Given the description of an element on the screen output the (x, y) to click on. 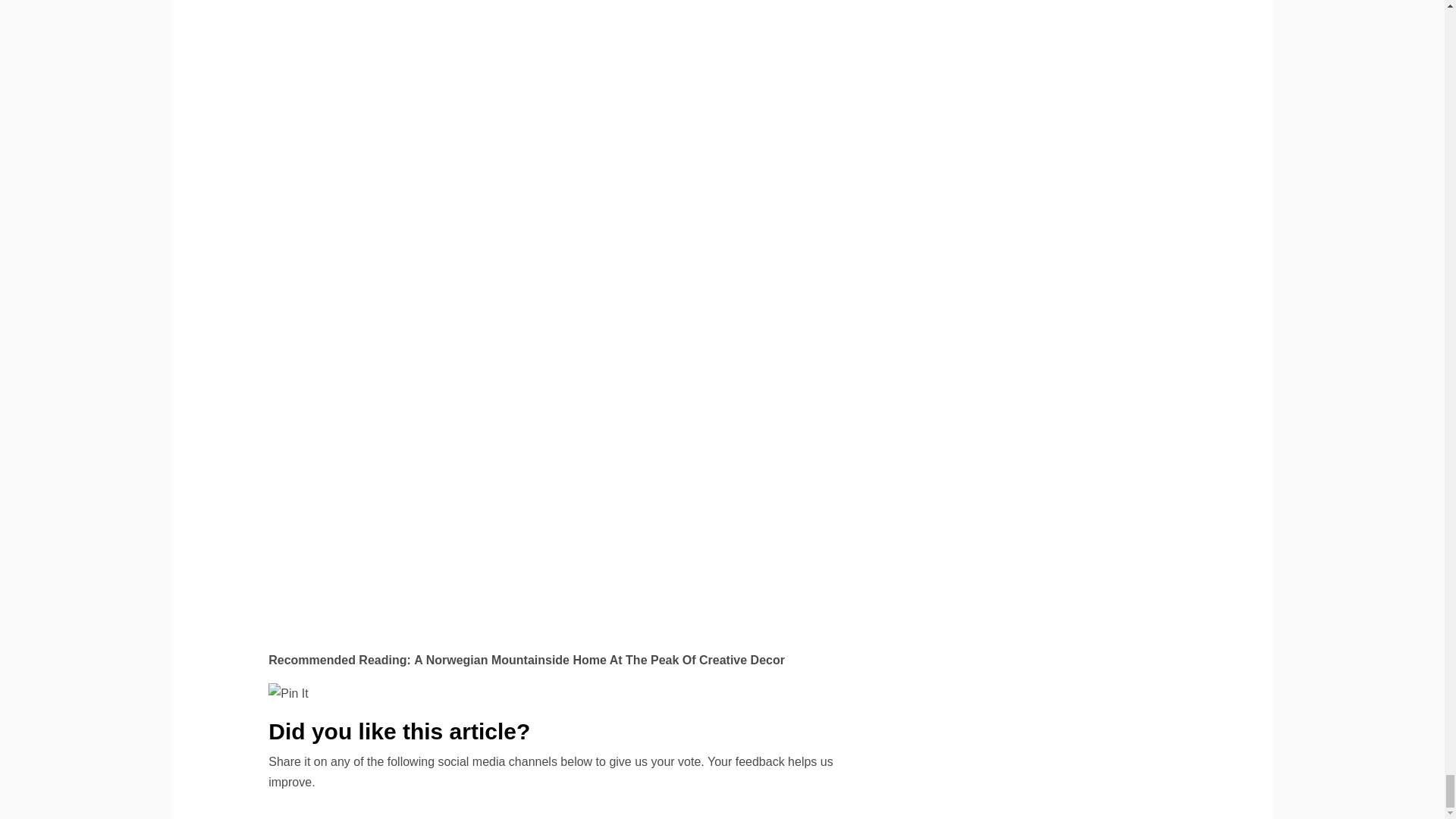
Pin It (287, 693)
